Given the description of an element on the screen output the (x, y) to click on. 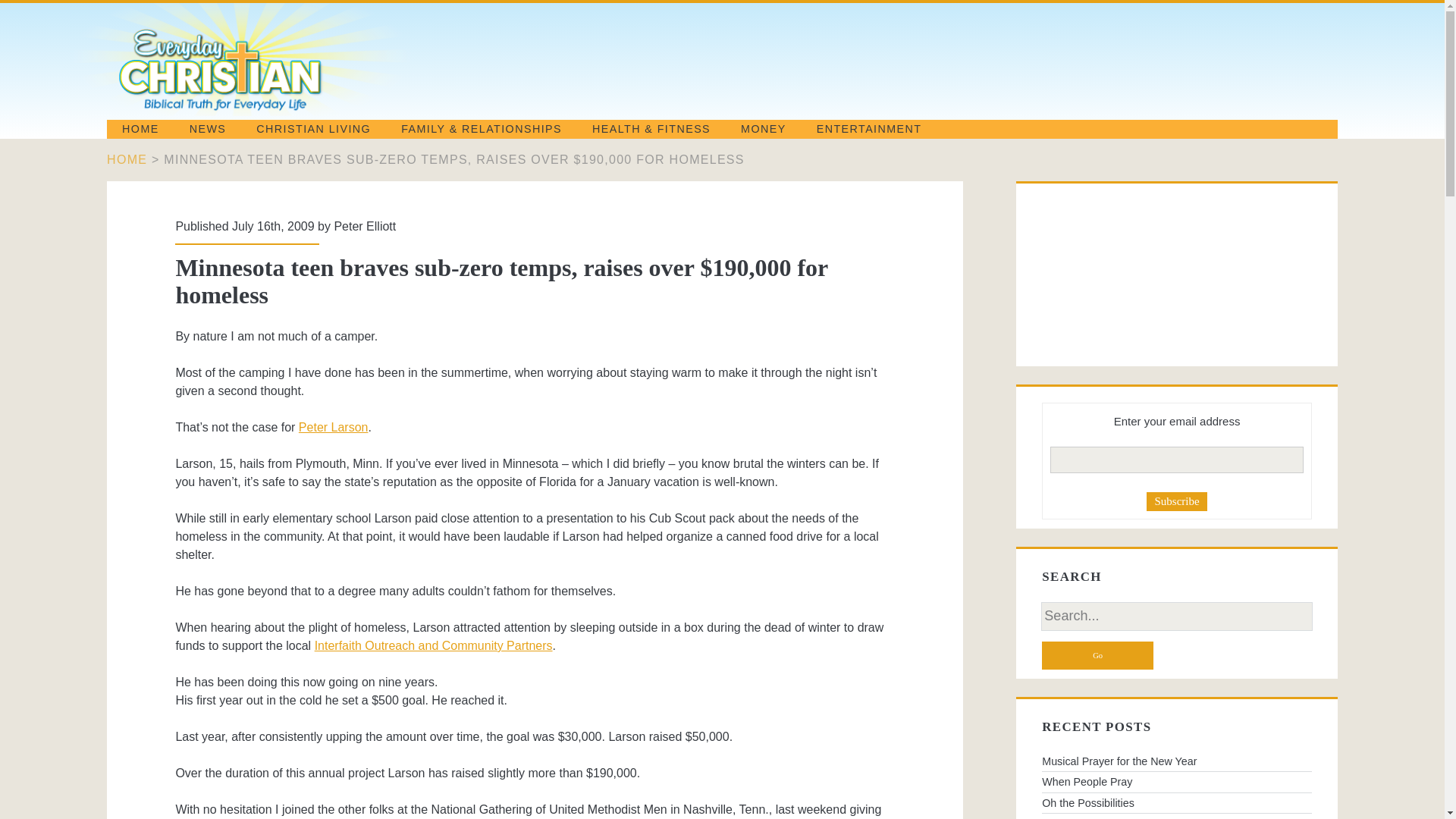
Posts by Peter Elliott (364, 226)
Oh the Possibilities (1176, 803)
ENTERTAINMENT (868, 128)
Search for: (1176, 615)
Interfaith Outreach and Community Partners (433, 645)
MONEY (763, 128)
S.N.O.W (1176, 816)
Subscribe (1177, 501)
CHRISTIAN LIVING (313, 128)
Musical Prayer for the New Year (1176, 761)
Go (1097, 655)
Interfaith Outreach and Community Partners (433, 645)
Subscribe (1177, 501)
HOME (140, 128)
